Given the description of an element on the screen output the (x, y) to click on. 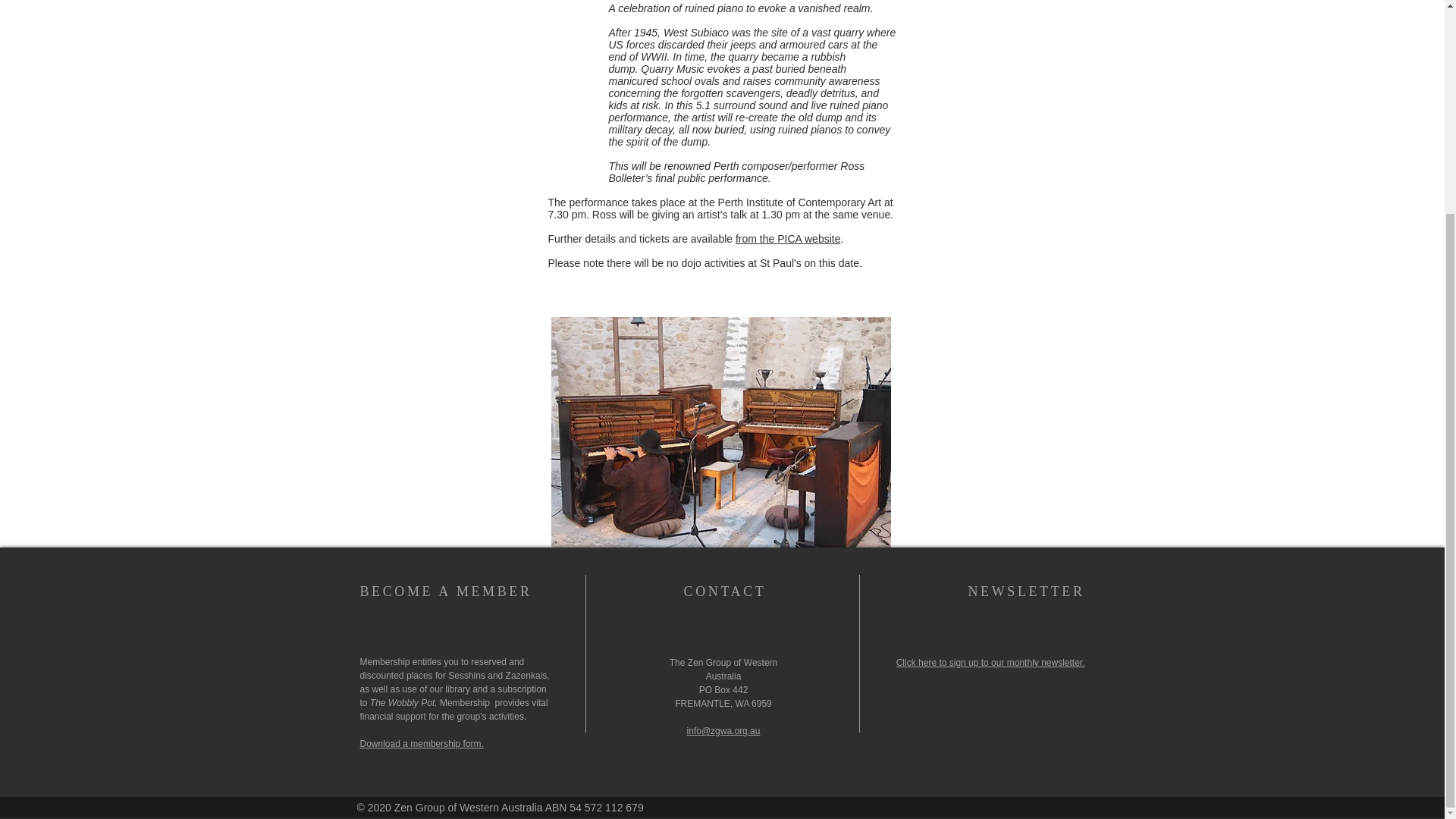
from the PICA website (788, 238)
Download a membership form. (421, 743)
Click here to sign up to our monthly newsletter. (990, 662)
